Given the description of an element on the screen output the (x, y) to click on. 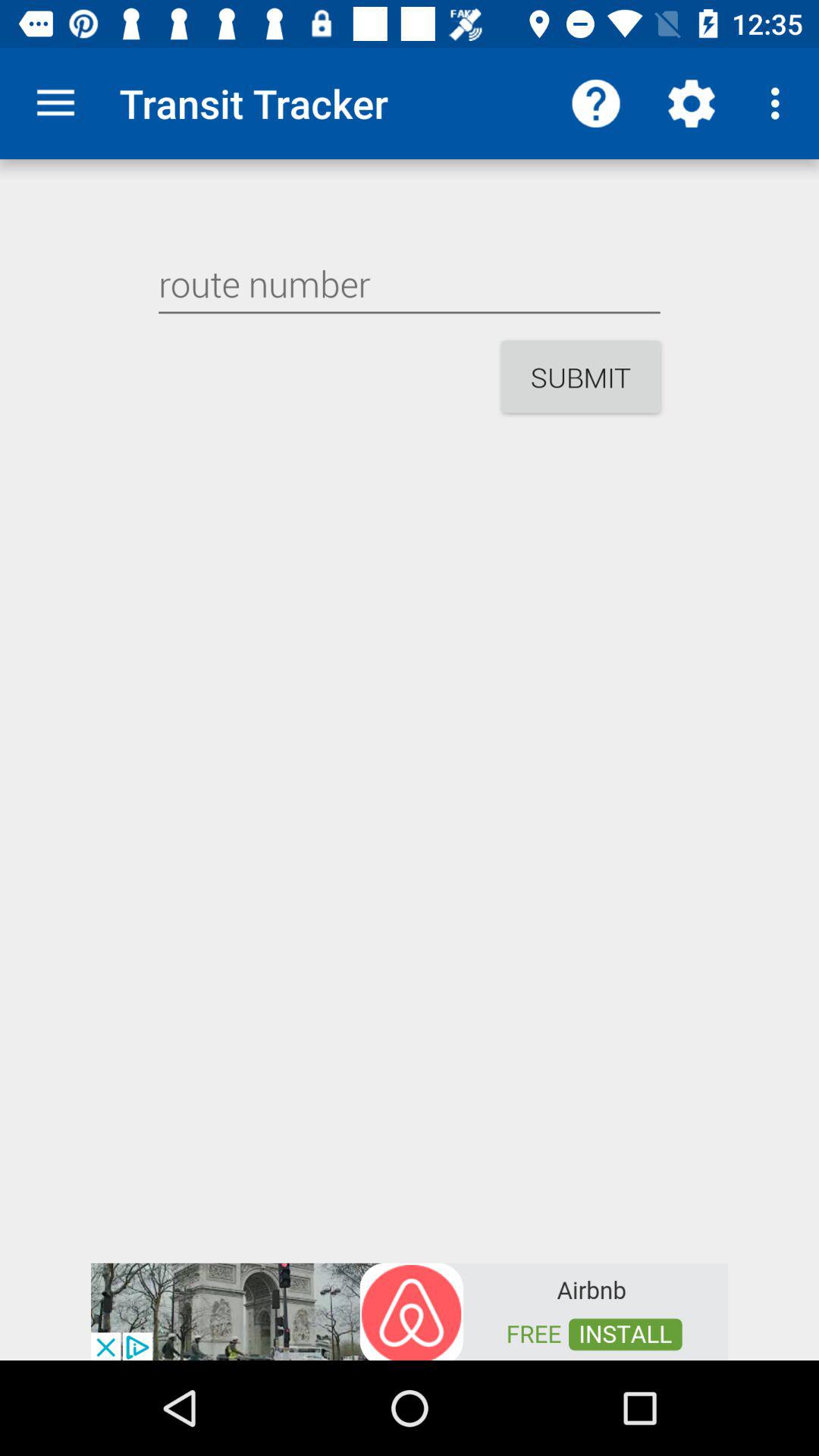
ender the text box (409, 284)
